Given the description of an element on the screen output the (x, y) to click on. 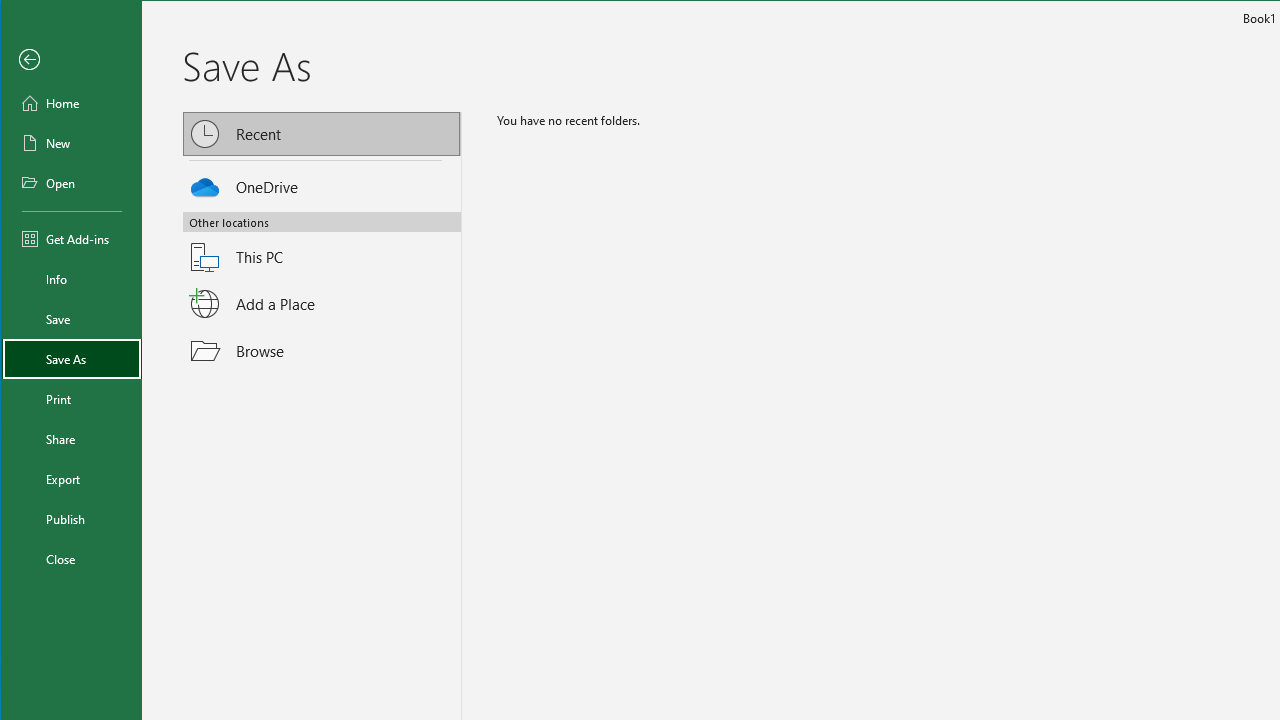
Browse (322, 350)
Recent (322, 134)
Close (72, 558)
Open (72, 182)
Get Add-ins (72, 238)
